Given the description of an element on the screen output the (x, y) to click on. 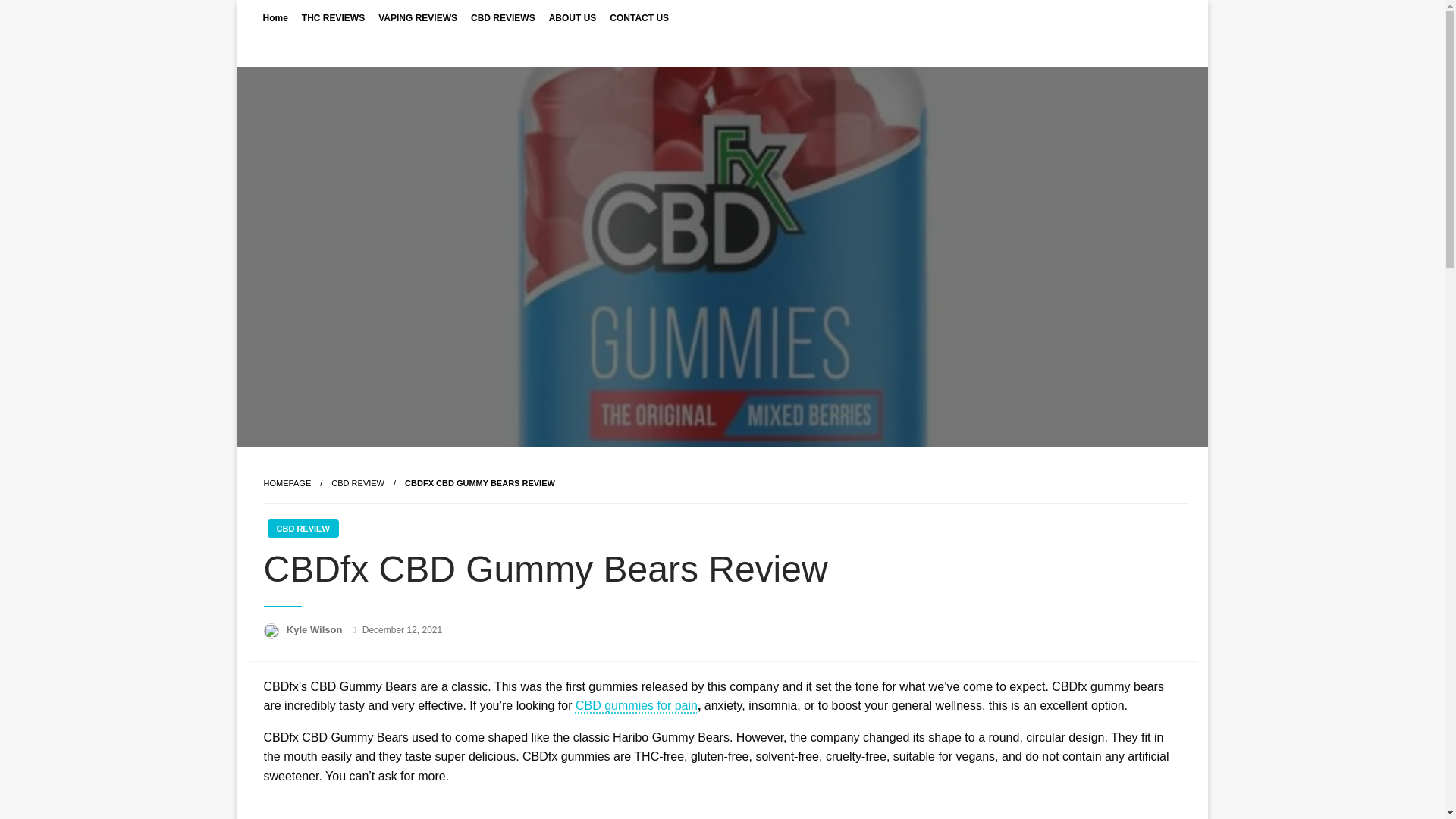
Kyle Wilson (315, 629)
Homepage (287, 482)
CONTACT US (638, 17)
CBDfx CBD Gummy Bears Review (479, 482)
CBD REVIEW (301, 528)
CBD REVIEW (357, 482)
December 12, 2021 (402, 629)
CBD gummies for pain (636, 705)
Kyle Wilson (315, 629)
